Given the description of an element on the screen output the (x, y) to click on. 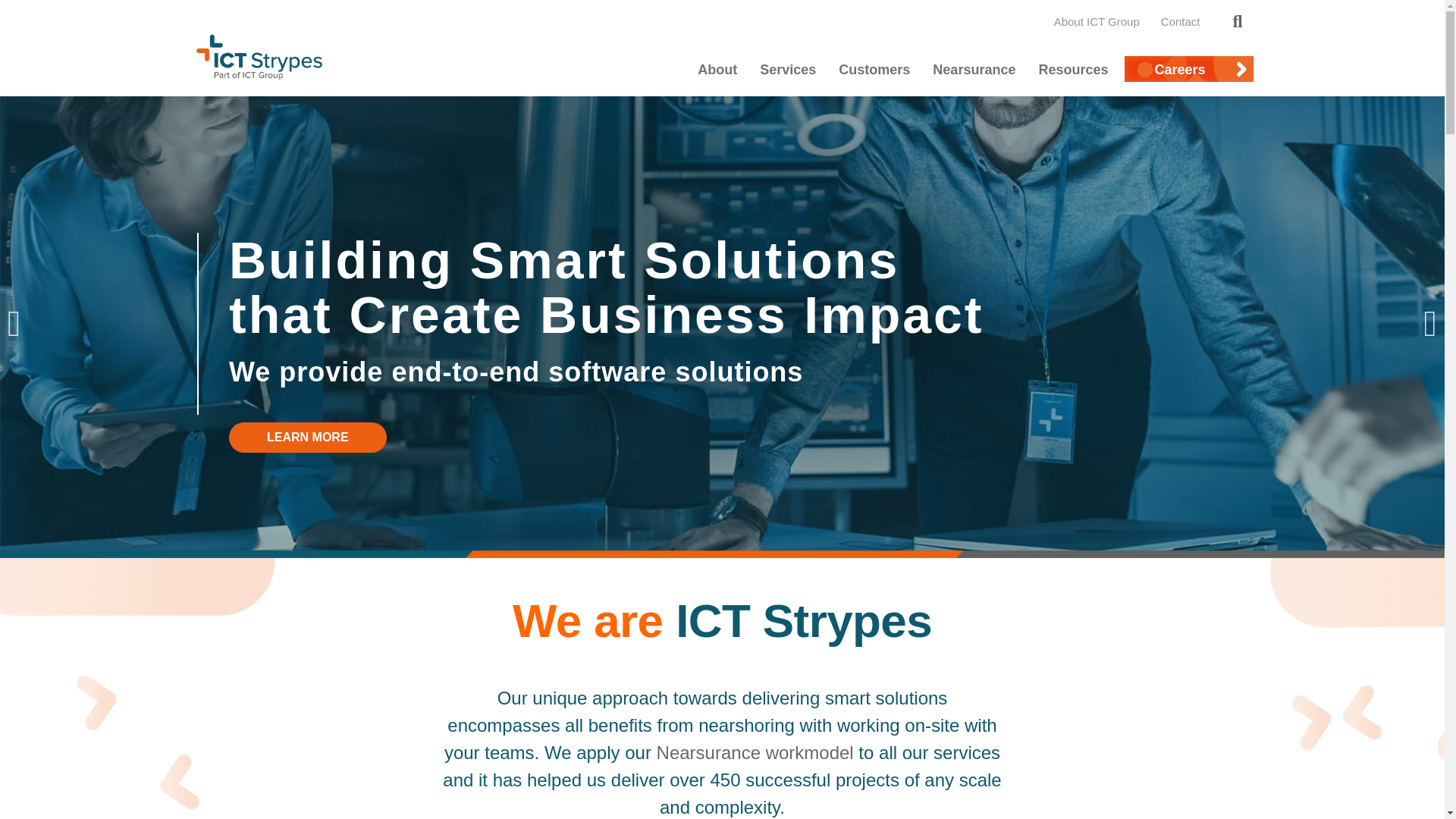
Resources (1072, 69)
About (717, 69)
Customers (874, 69)
Careers (1188, 69)
Contact (1180, 21)
Services (787, 69)
Nearsurance (974, 69)
About ICT Group (1096, 21)
